Given the description of an element on the screen output the (x, y) to click on. 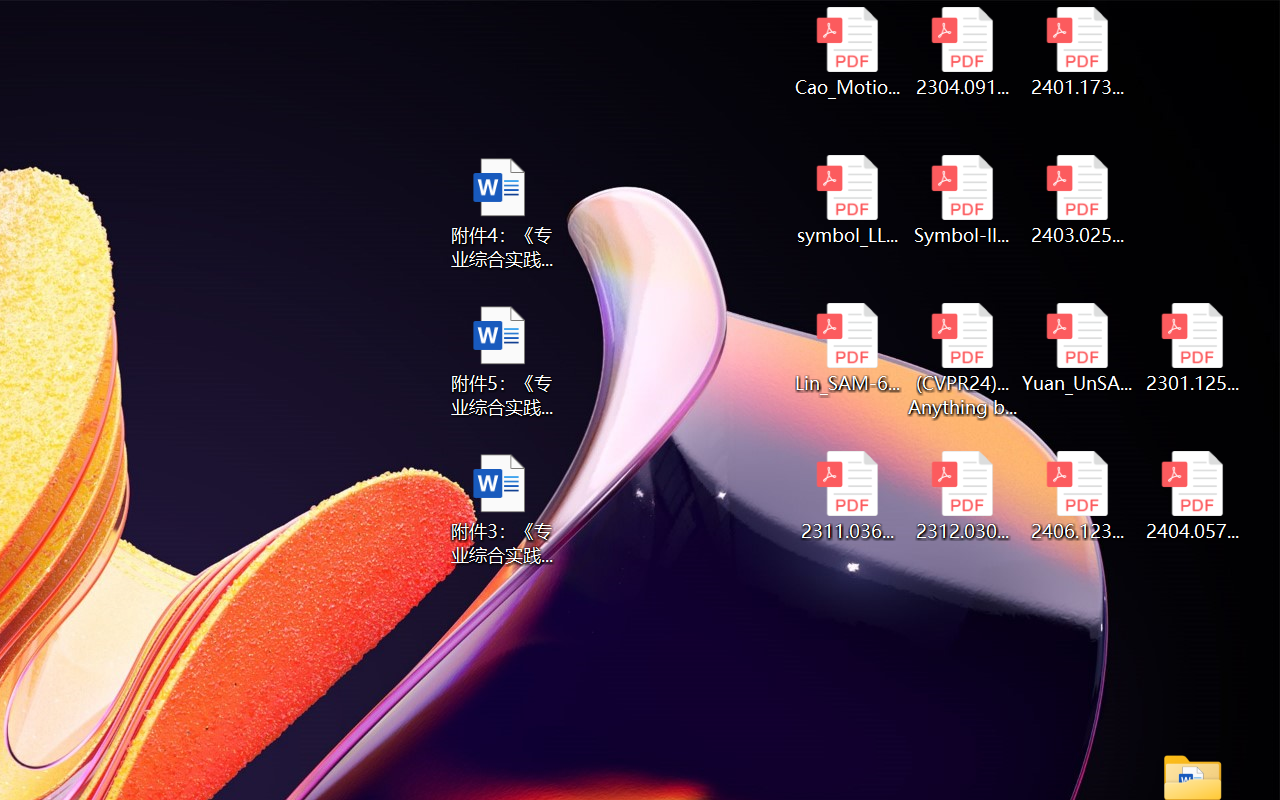
2406.12373v2.pdf (1077, 496)
symbol_LLM.pdf (846, 200)
2301.12597v3.pdf (1192, 348)
2401.17399v1.pdf (1077, 52)
2304.09121v3.pdf (962, 52)
2311.03658v2.pdf (846, 496)
Symbol-llm-v2.pdf (962, 200)
2403.02502v1.pdf (1077, 200)
2404.05719v1.pdf (1192, 496)
2312.03032v2.pdf (962, 496)
